Given the description of an element on the screen output the (x, y) to click on. 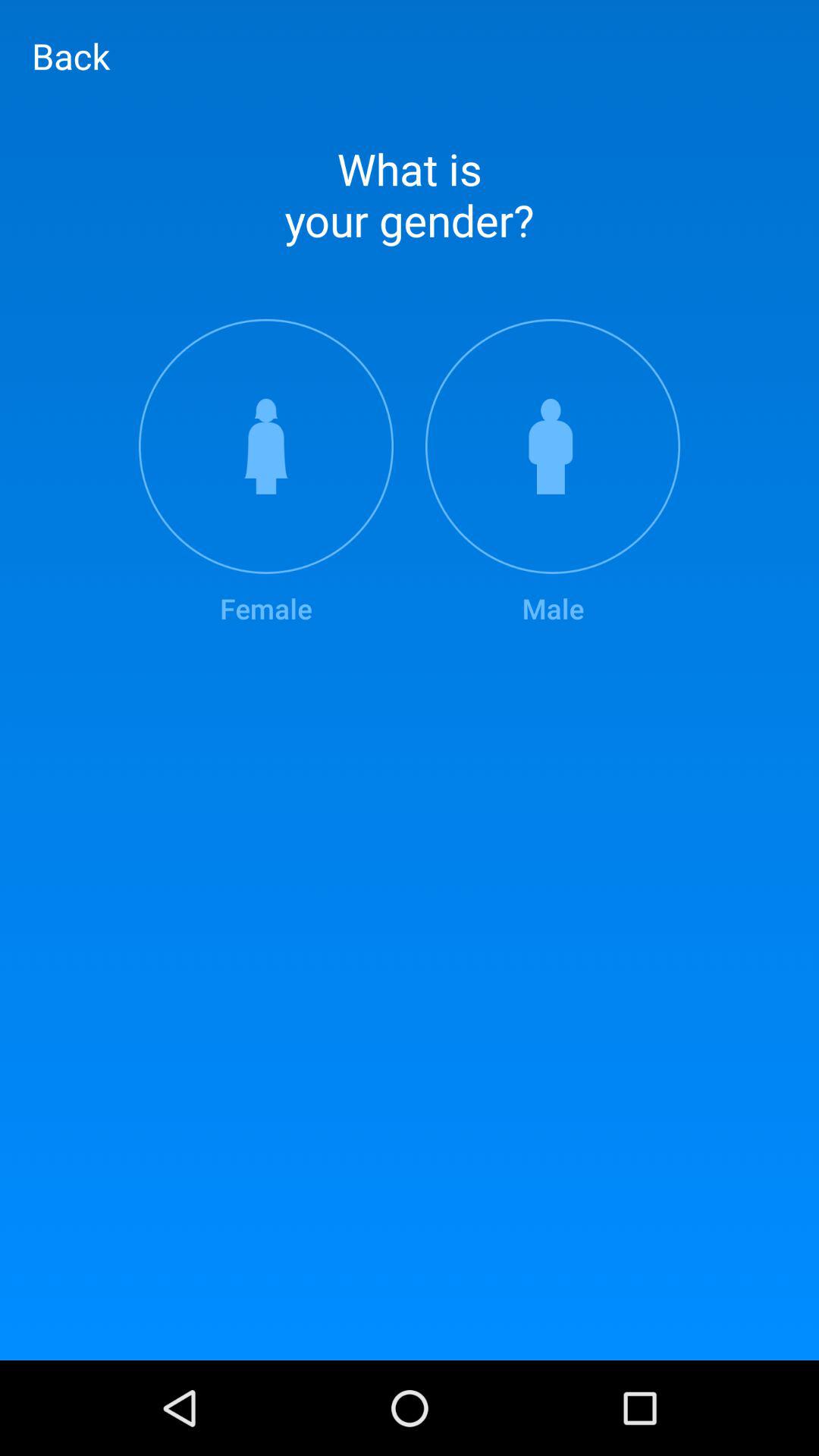
swipe to back (70, 55)
